Given the description of an element on the screen output the (x, y) to click on. 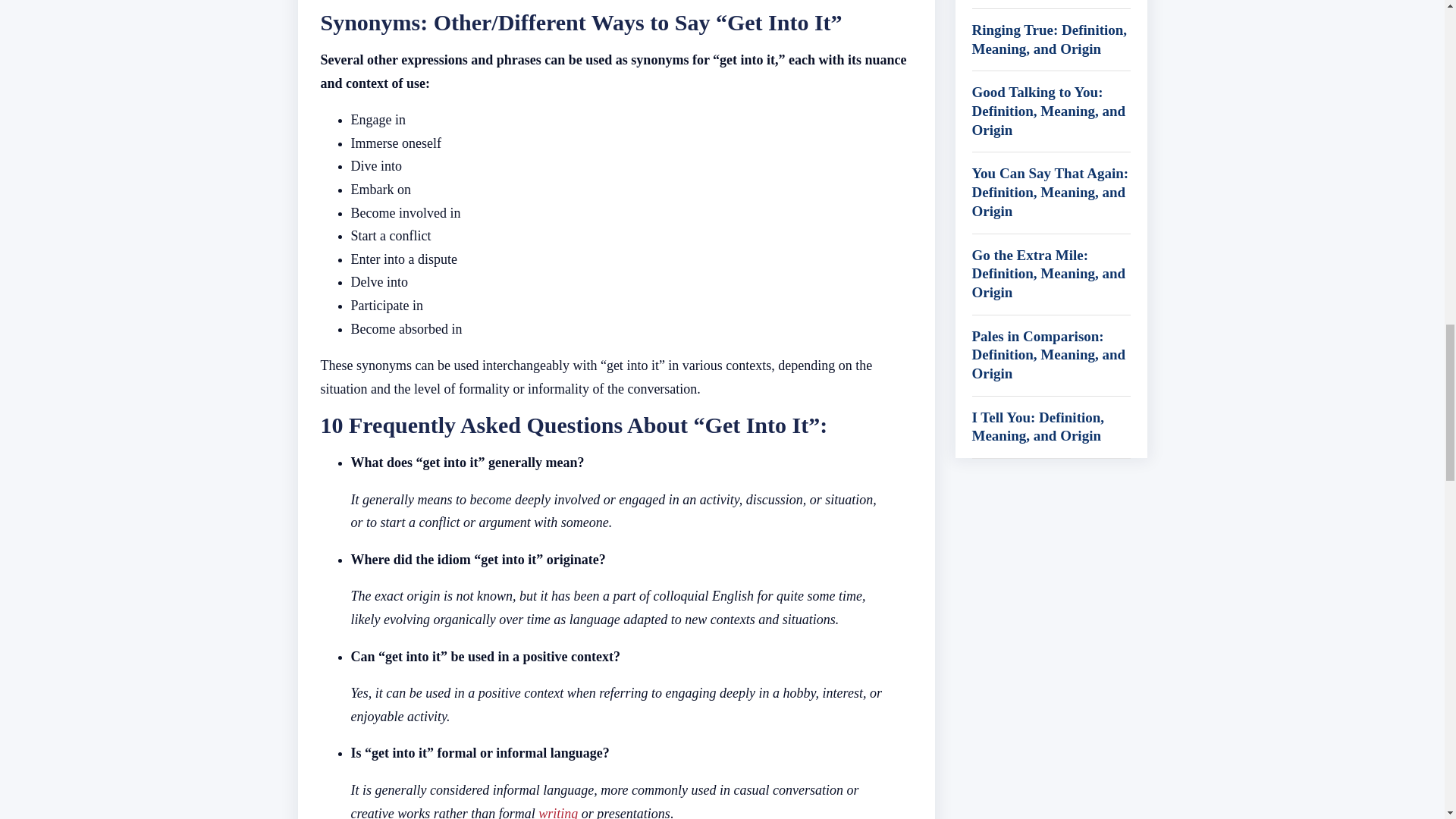
writing (558, 812)
